Given the description of an element on the screen output the (x, y) to click on. 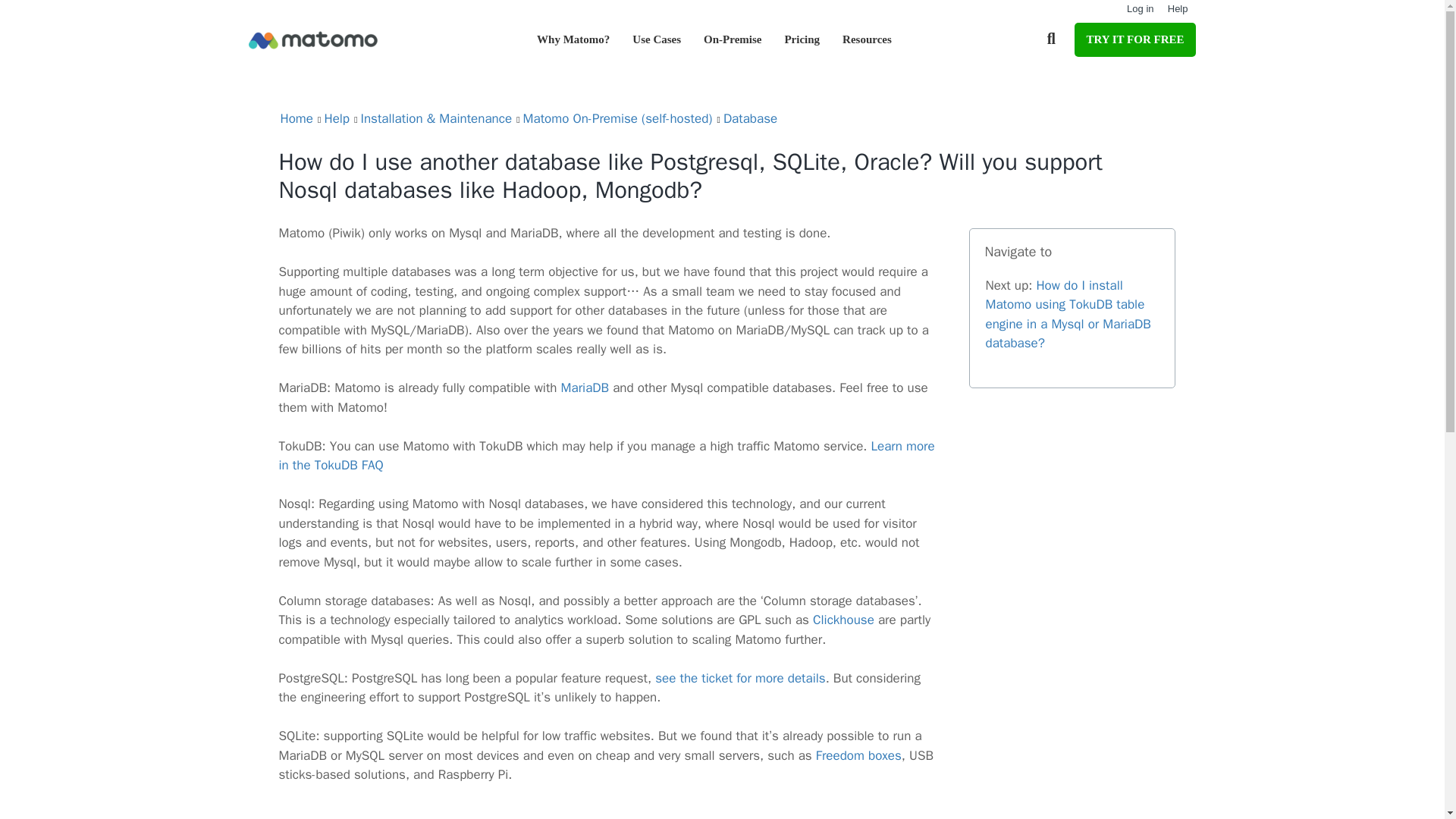
Log in (1139, 8)
Use Cases (657, 39)
Resources (866, 39)
Why Matomo? (573, 39)
On-Premise (733, 39)
Pricing (802, 39)
Help (1177, 8)
